Given the description of an element on the screen output the (x, y) to click on. 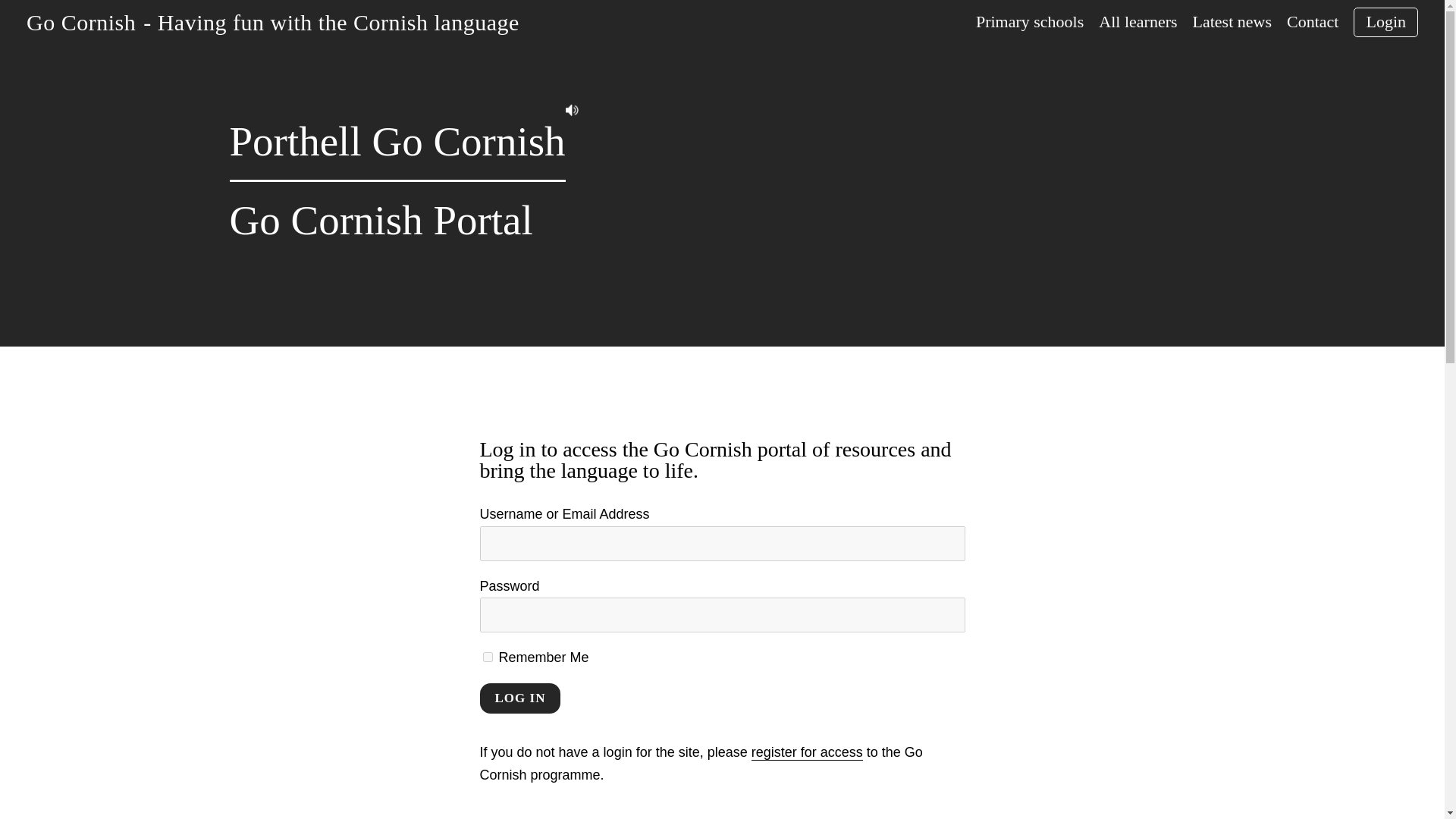
Primary schools (1029, 22)
Log In (519, 698)
Contact (1312, 22)
Latest news (1231, 22)
All learners (1137, 22)
Go Cornish - Having fun with the Cornish language (272, 20)
Log In (519, 698)
Porthell Go Cornish (396, 141)
Login (1386, 21)
forever (486, 656)
register for access (807, 752)
